Given the description of an element on the screen output the (x, y) to click on. 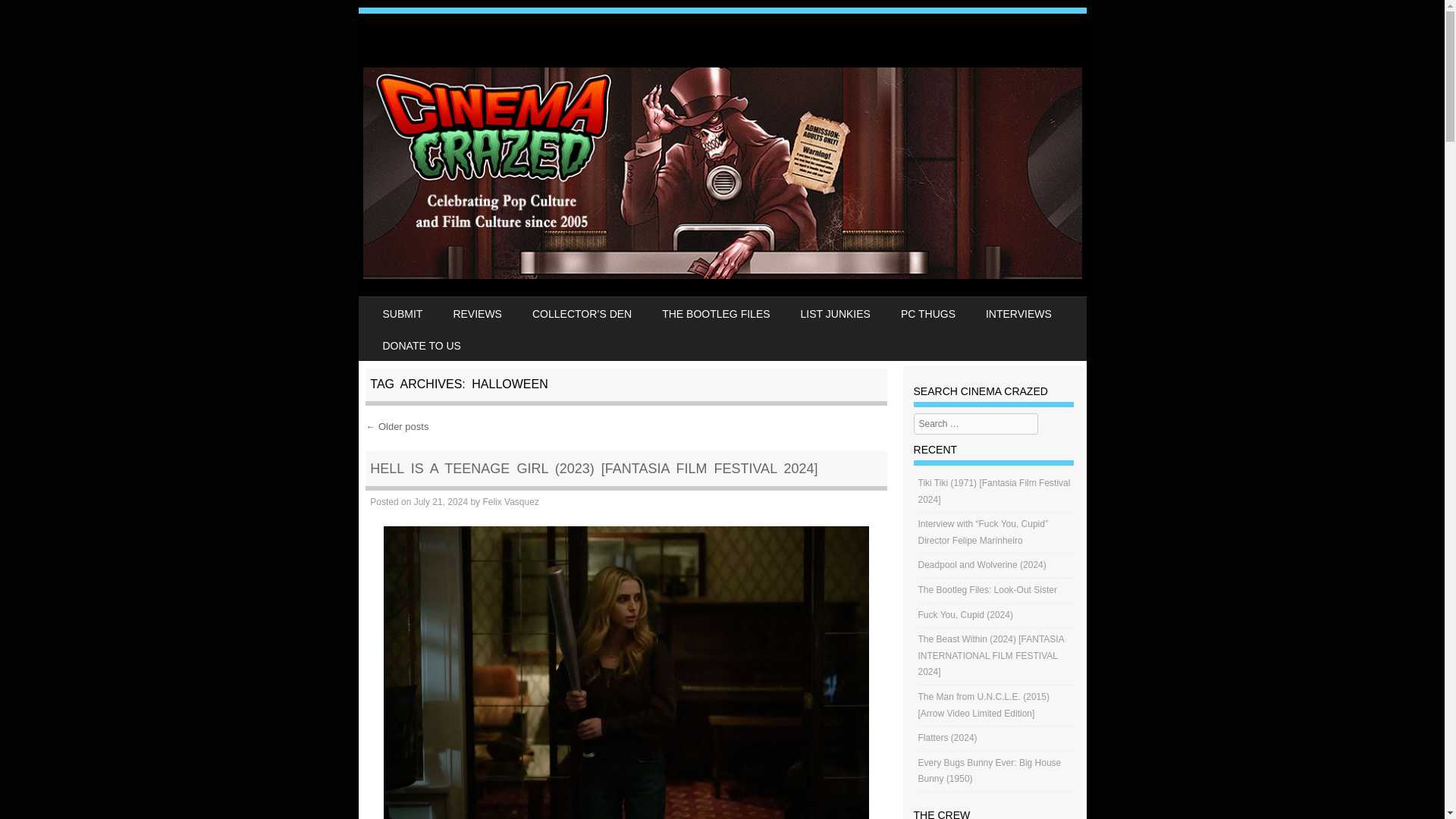
LIST JUNKIES (835, 313)
REVIEWS (477, 313)
DONATE TO US (421, 345)
INTERVIEWS (1019, 313)
THE BOOTLEG FILES (715, 313)
Felix Vasquez (509, 501)
Cinema Crazed (721, 275)
Skip to content (405, 306)
SKIP TO CONTENT (405, 306)
SUBMIT (402, 313)
July 21, 2024 (440, 501)
6:40 pm (440, 501)
PC THUGS (928, 313)
View all posts by Felix Vasquez (509, 501)
